Given the description of an element on the screen output the (x, y) to click on. 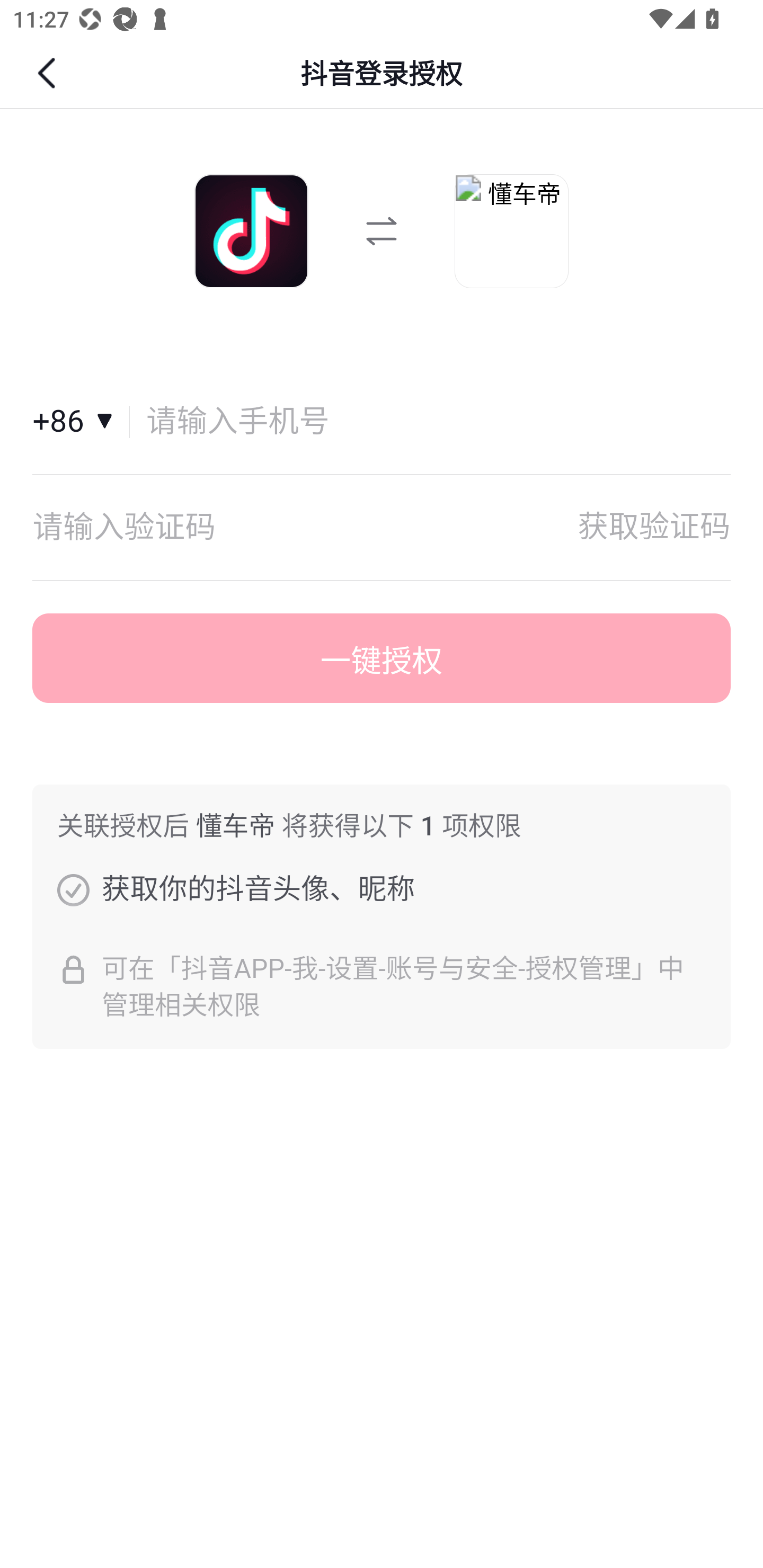
返回 (49, 72)
国家和地区+86 (81, 421)
获取验证码 (653, 526)
一键授权 (381, 658)
获取你的抖音头像、昵称 (72, 889)
